Given the description of an element on the screen output the (x, y) to click on. 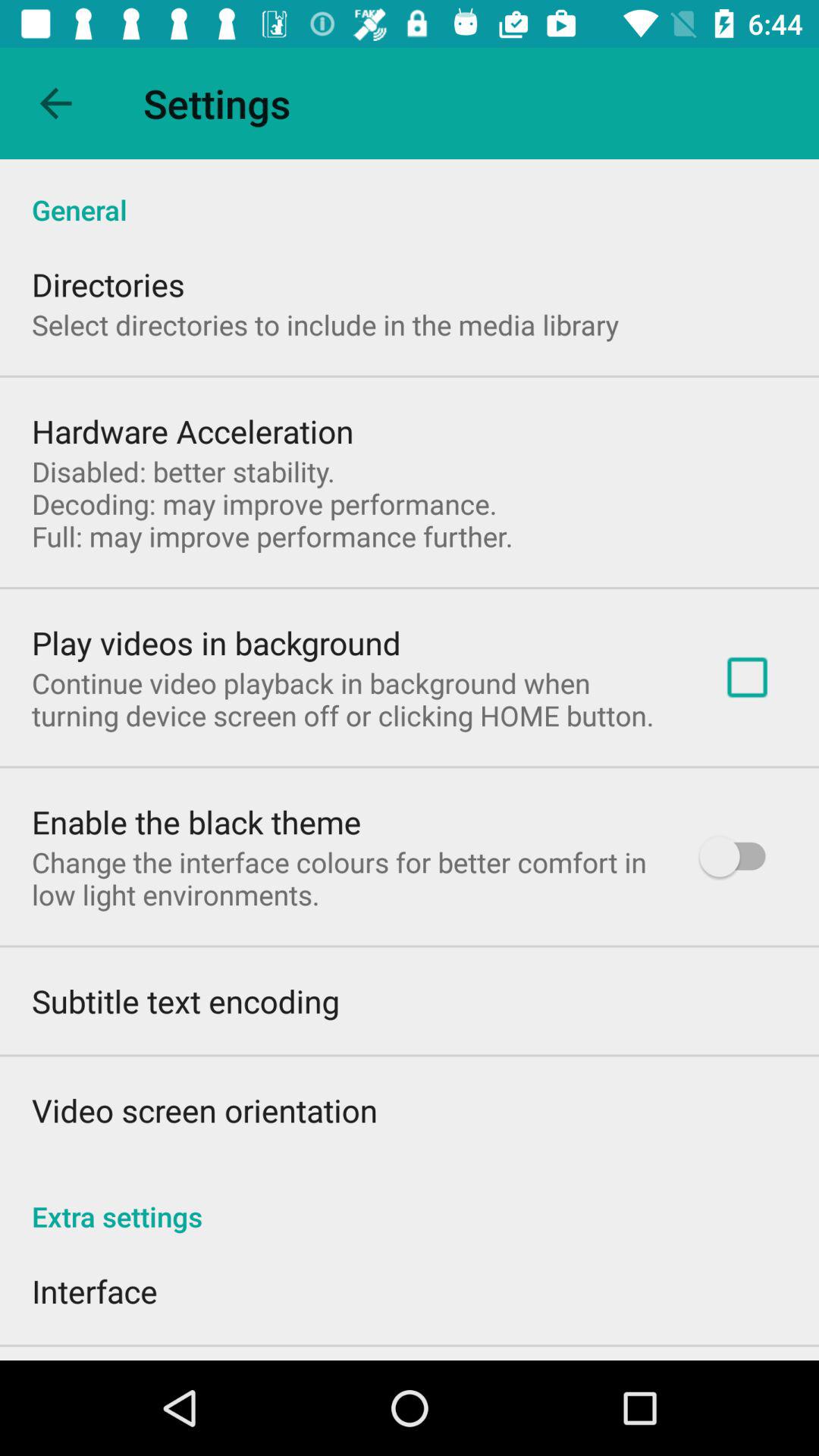
select the icon next to the change the interface (739, 856)
